Given the description of an element on the screen output the (x, y) to click on. 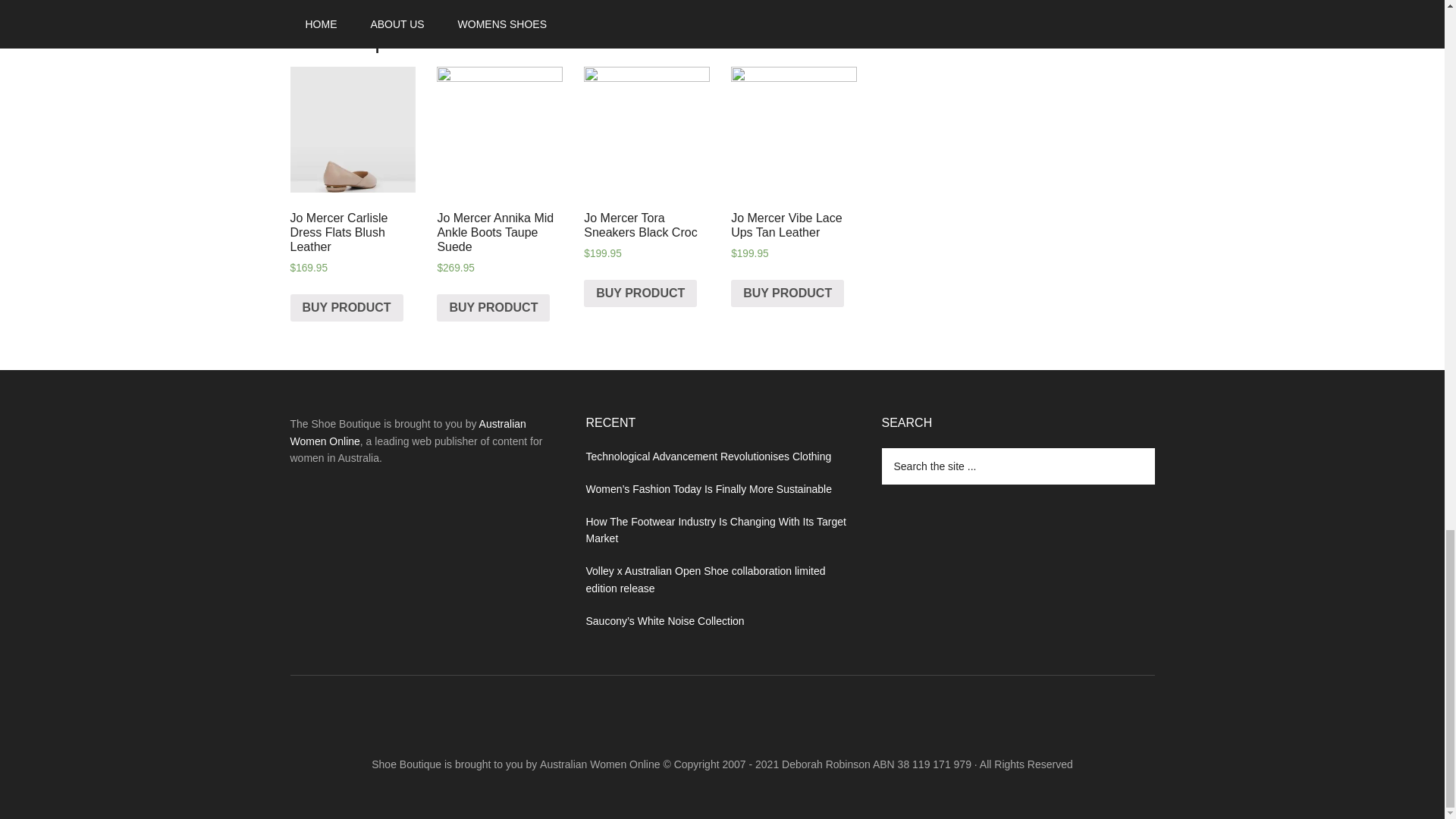
BUY PRODUCT (346, 307)
BUY PRODUCT (787, 293)
BUY PRODUCT (493, 307)
BUY PRODUCT (640, 293)
